Given the description of an element on the screen output the (x, y) to click on. 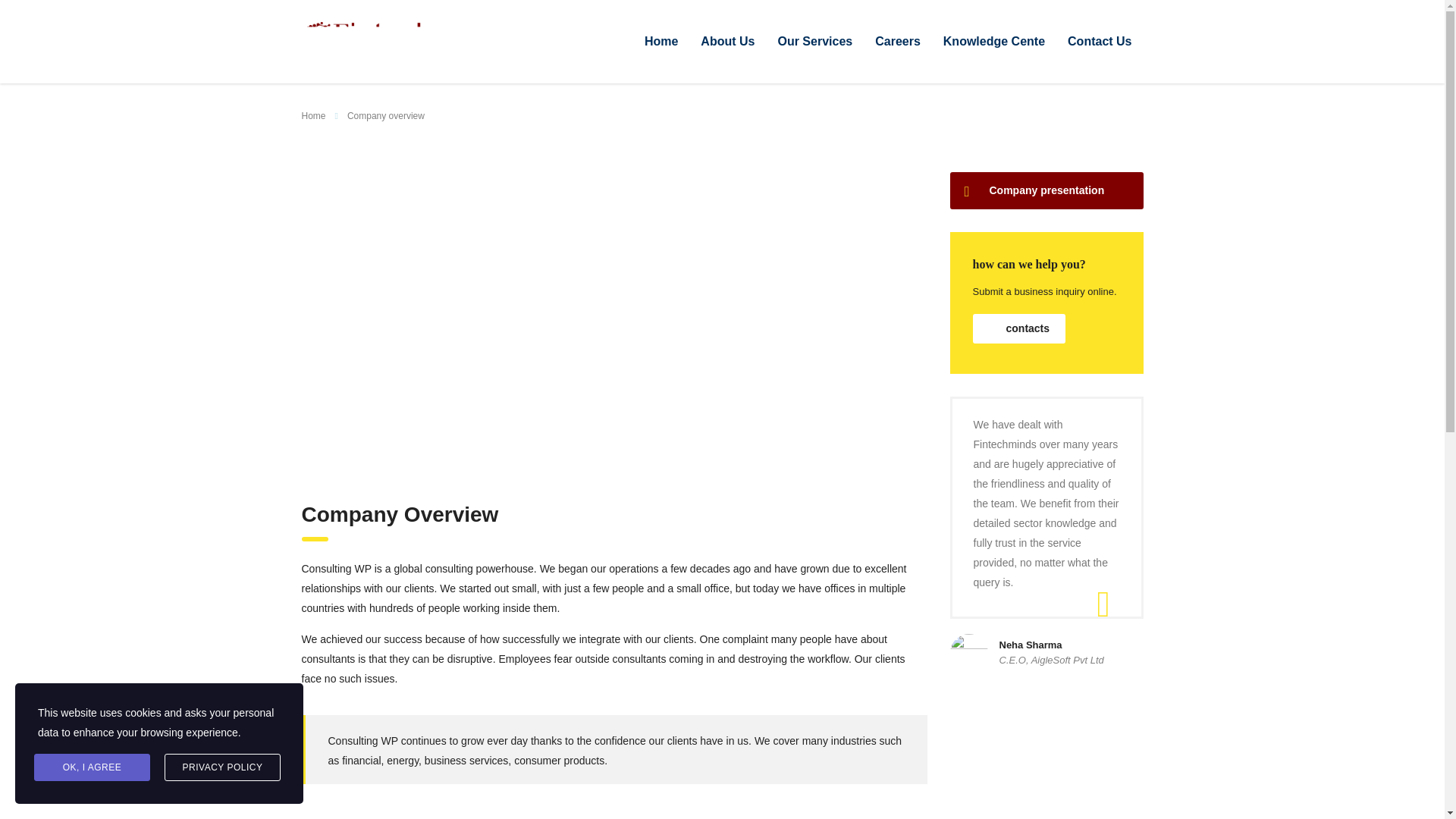
Knowledge Cente (994, 41)
Our Services (814, 41)
About Us (726, 41)
Go to Fintechminds. (313, 115)
Contact Us (1099, 41)
Careers (897, 41)
Home (660, 41)
Home (313, 115)
